Given the description of an element on the screen output the (x, y) to click on. 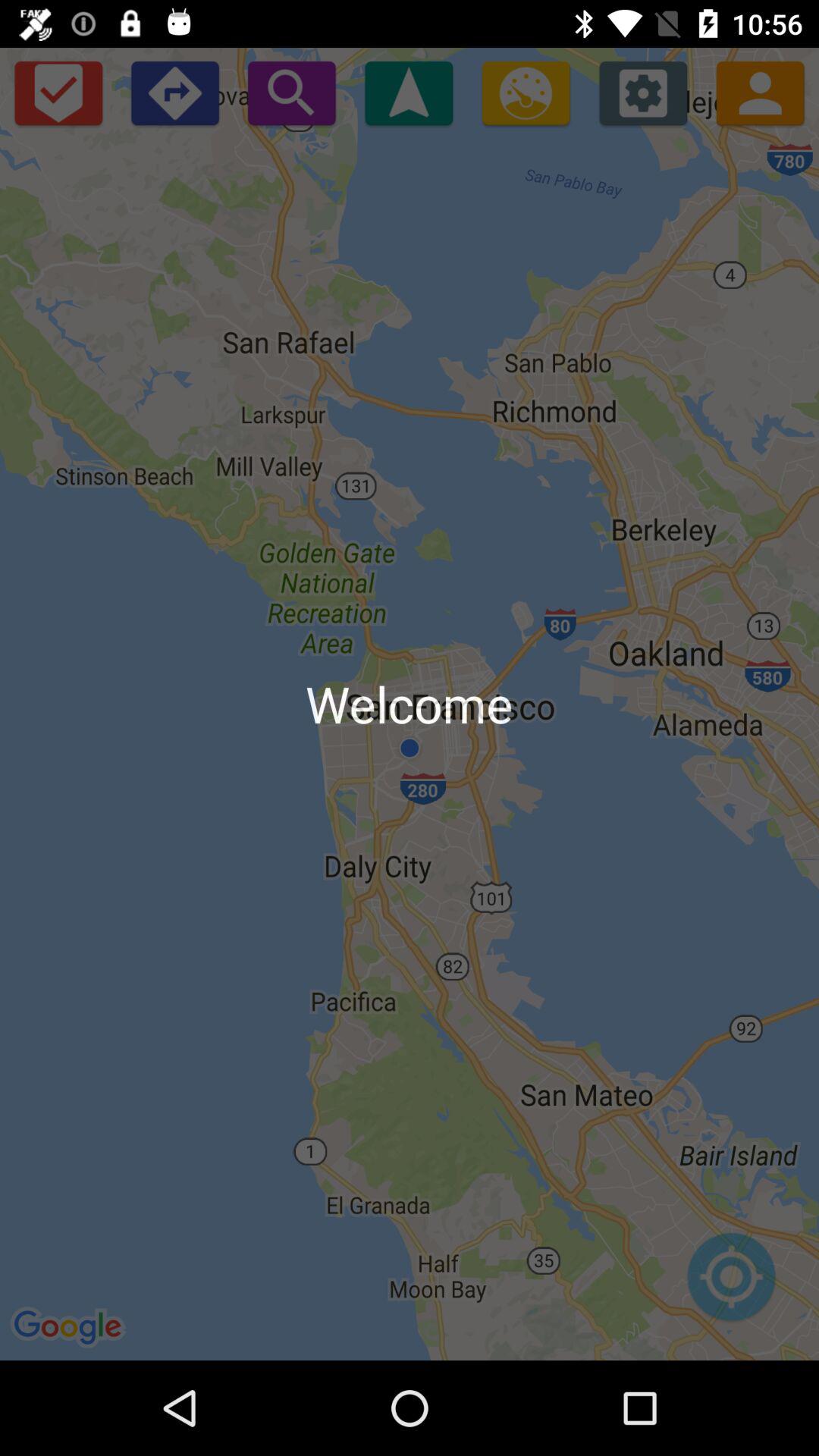
search (291, 92)
